Given the description of an element on the screen output the (x, y) to click on. 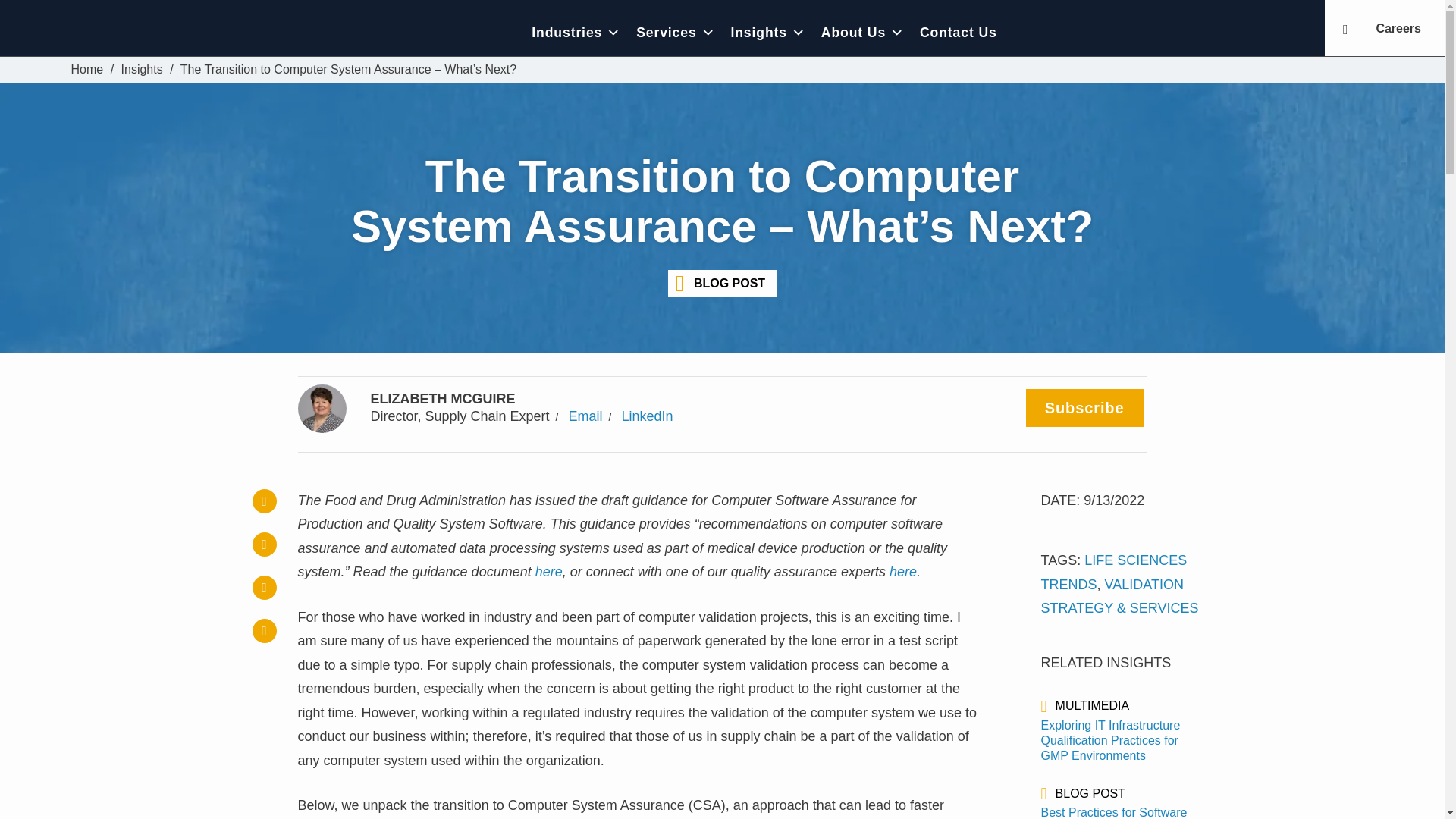
Clarkston Consulting (176, 31)
Industries (576, 32)
Insights (141, 69)
Clarkston Consulting (87, 69)
Services (675, 32)
